Given the description of an element on the screen output the (x, y) to click on. 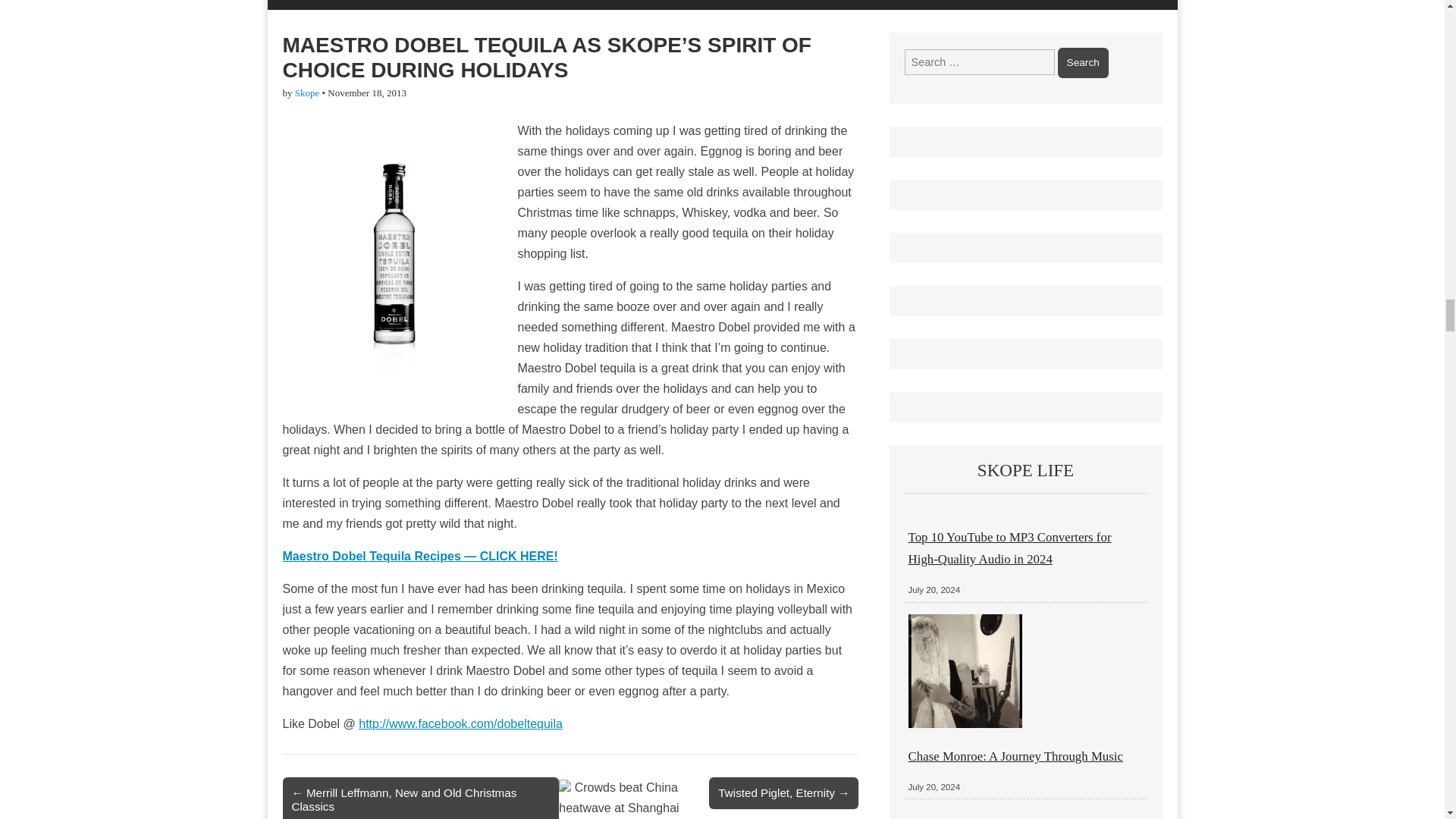
NEWS (434, 4)
Search (1083, 62)
FEATURES (365, 4)
Posts by Skope (307, 92)
REVIEWS (500, 4)
MARKETPLACE (684, 4)
Chase Monroe: A Journey Through Music (1015, 756)
HOME (294, 4)
PRIVACY POLICY (901, 4)
Search (1083, 62)
Search (1083, 62)
Skope (307, 92)
ABOUT SKOPE (790, 4)
